Given the description of an element on the screen output the (x, y) to click on. 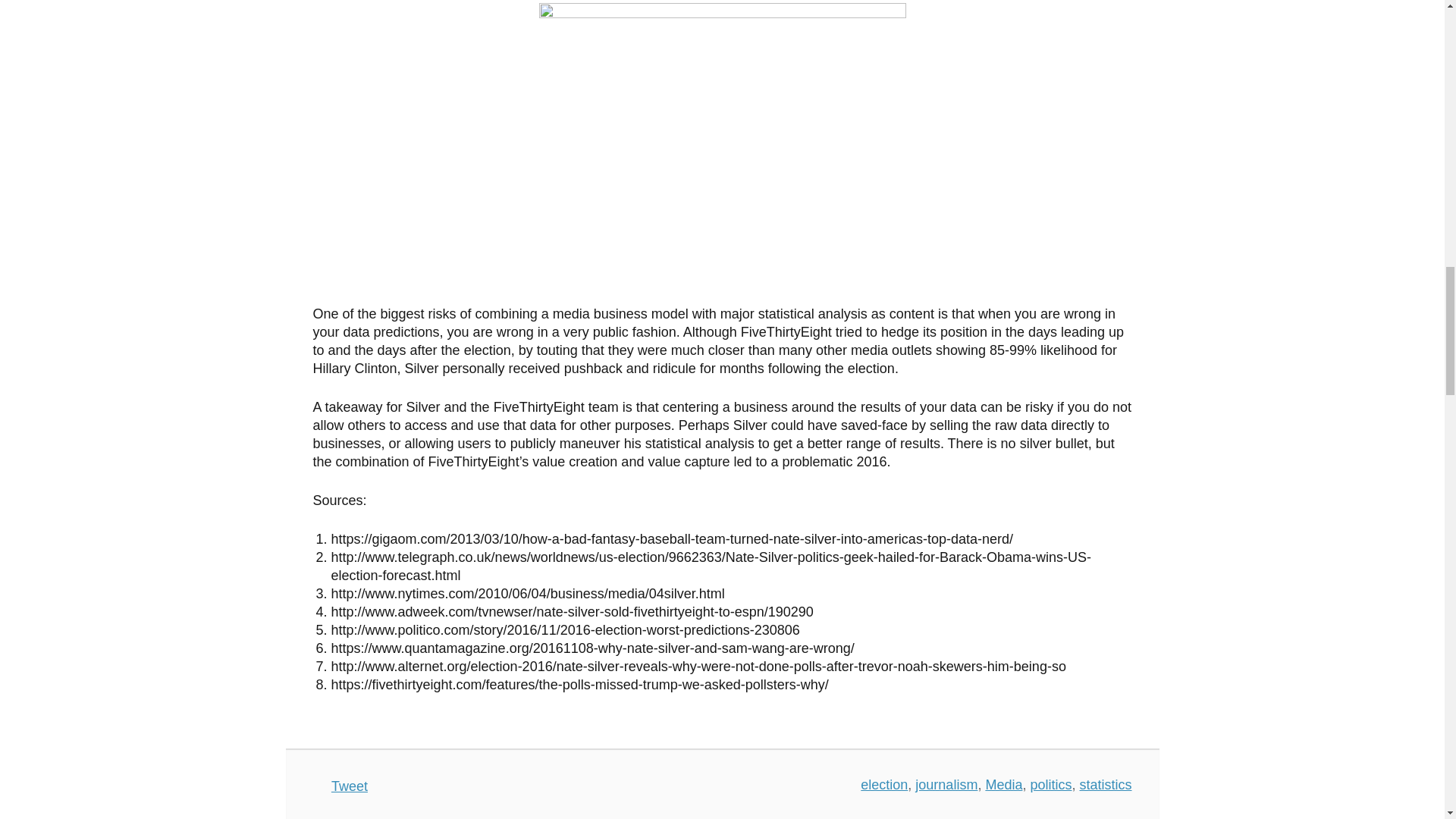
journalism (945, 784)
election (883, 784)
politics (1050, 784)
statistics (1104, 784)
Tweet (349, 785)
Media (1003, 784)
